Given the description of an element on the screen output the (x, y) to click on. 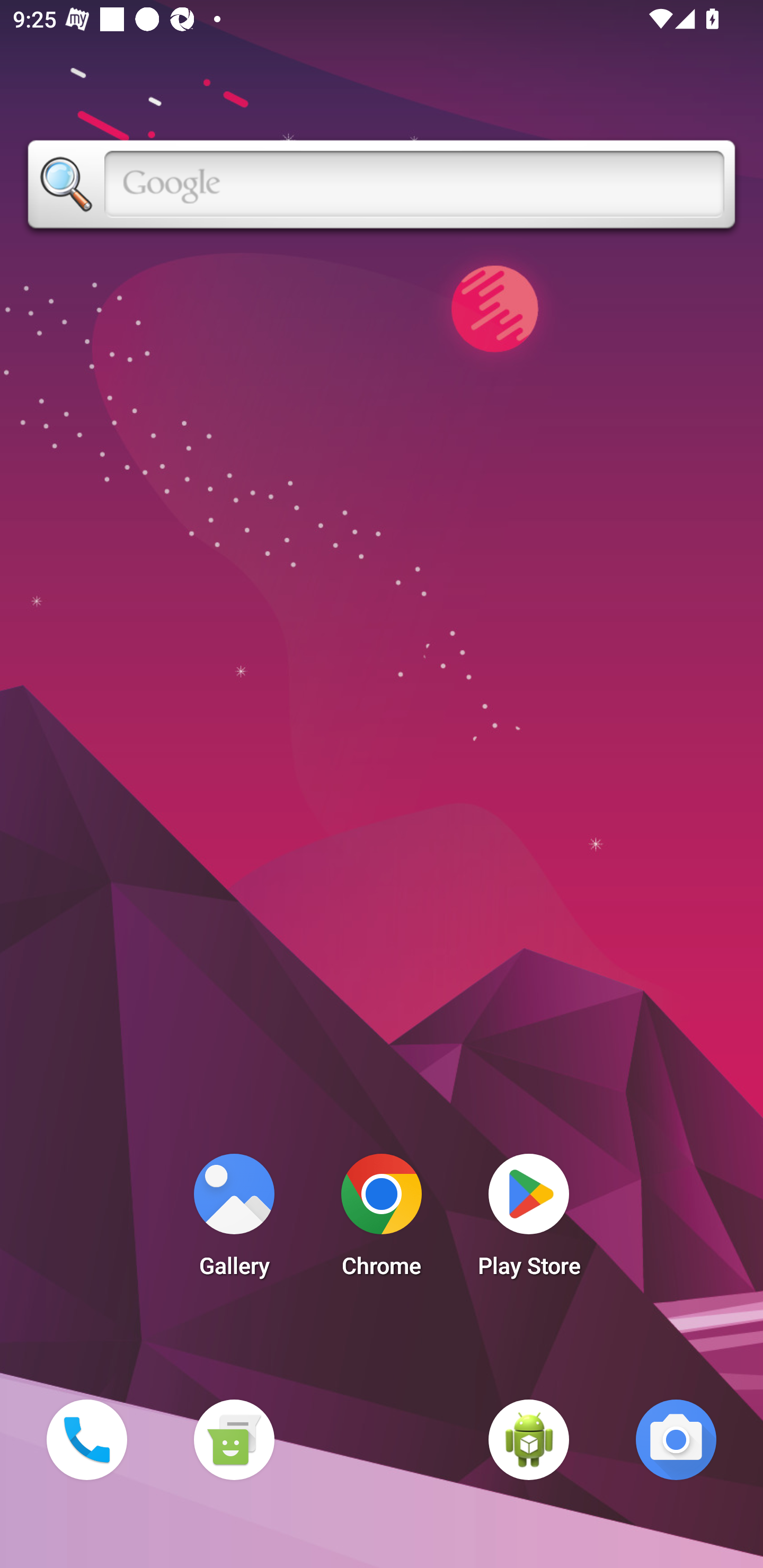
Gallery (233, 1220)
Chrome (381, 1220)
Play Store (528, 1220)
Phone (86, 1439)
Messaging (233, 1439)
WebView Browser Tester (528, 1439)
Camera (676, 1439)
